Given the description of an element on the screen output the (x, y) to click on. 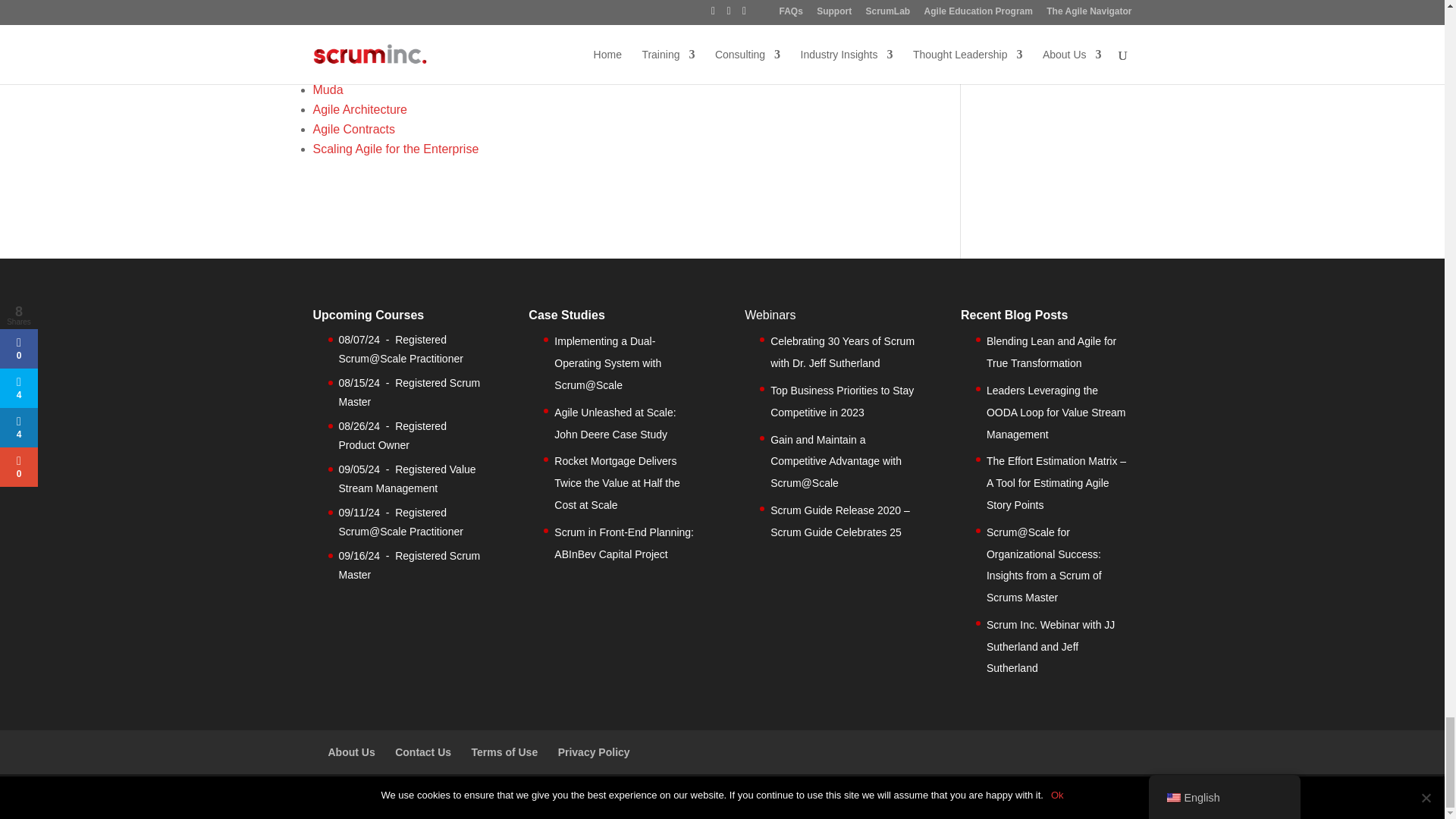
Agile Architecture (360, 109)
Agile Leadership: Trust vs. Control (405, 30)
Executive Action Team (373, 50)
Agile Contracts (353, 128)
Scaling Agile for the Enterprise (396, 148)
Scrum in Sales (353, 69)
Muda (327, 89)
